Given the description of an element on the screen output the (x, y) to click on. 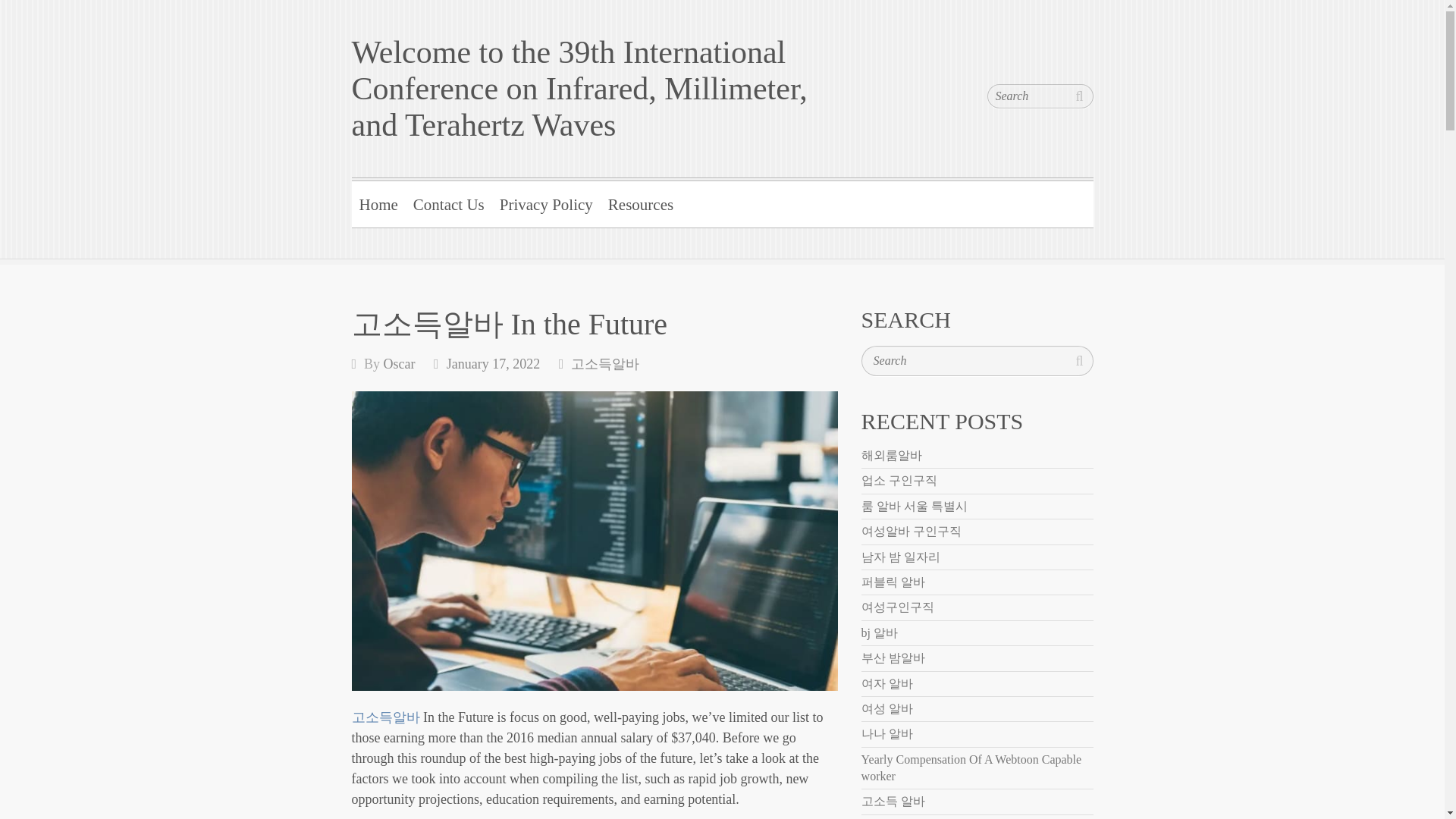
Home (379, 202)
Resources (640, 202)
Yearly Compensation Of A Webtoon Capable worker (971, 767)
5:45 pm (493, 363)
Contact Us (449, 202)
January 17, 2022 (493, 363)
Privacy Policy (545, 202)
Oscar (399, 363)
